Given the description of an element on the screen output the (x, y) to click on. 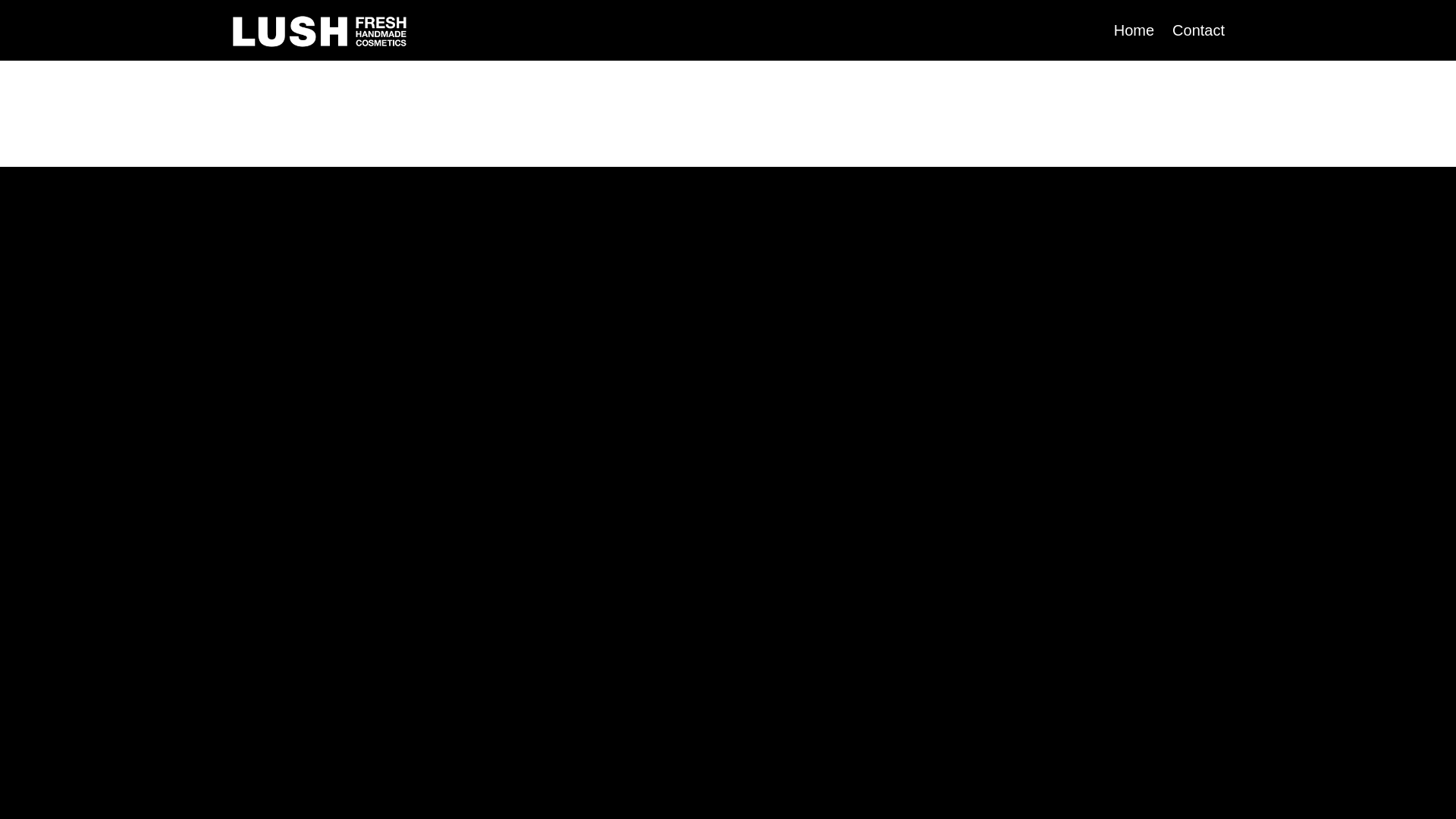
Home Element type: text (1133, 29)
Lush Fresh Handmade Cosmetics Element type: hover (319, 31)
Contact Element type: text (1198, 29)
